Given the description of an element on the screen output the (x, y) to click on. 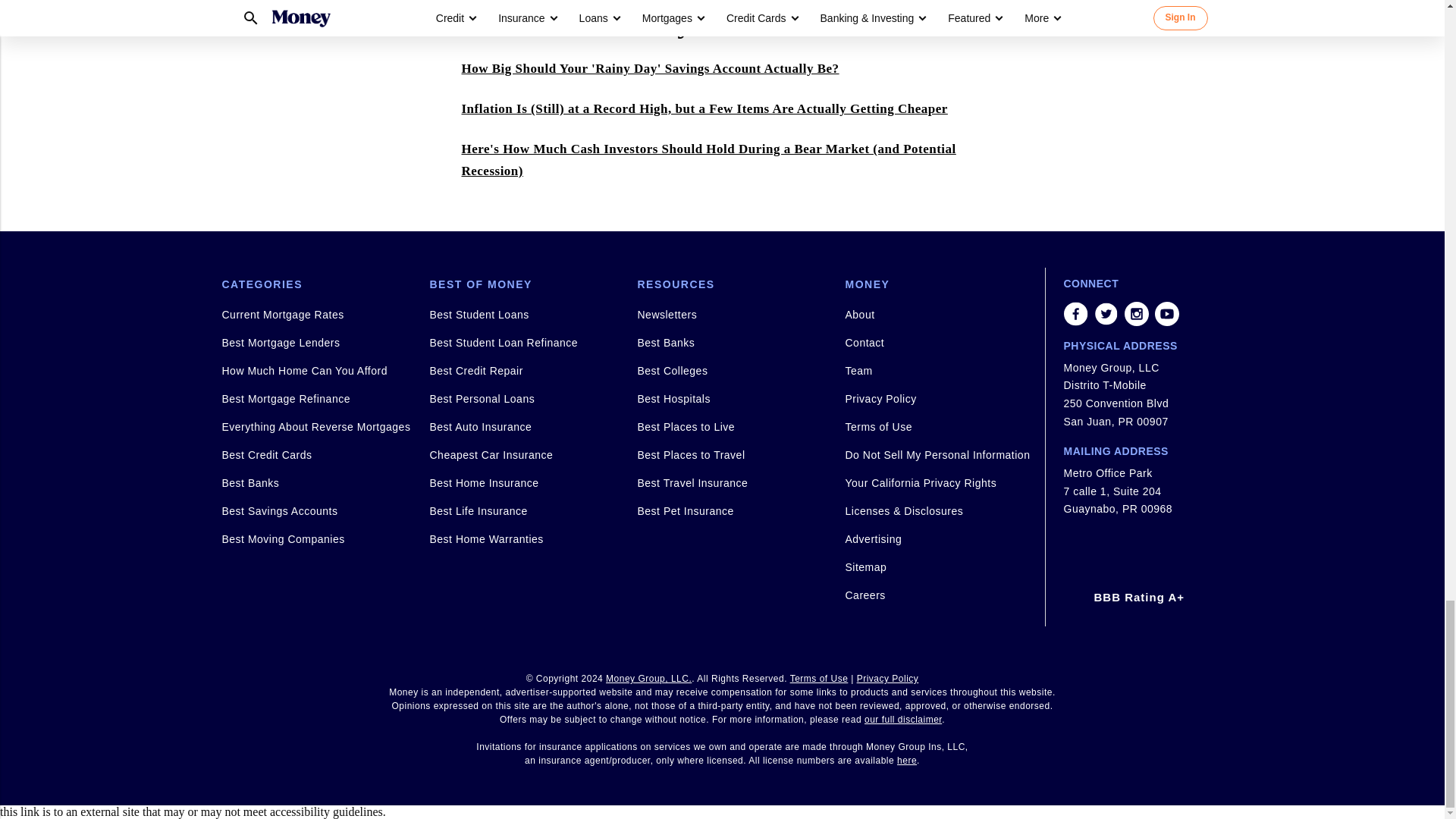
twitter share (1105, 313)
youtube share (1165, 313)
instagram share (1136, 313)
facebook share (1074, 313)
